Given the description of an element on the screen output the (x, y) to click on. 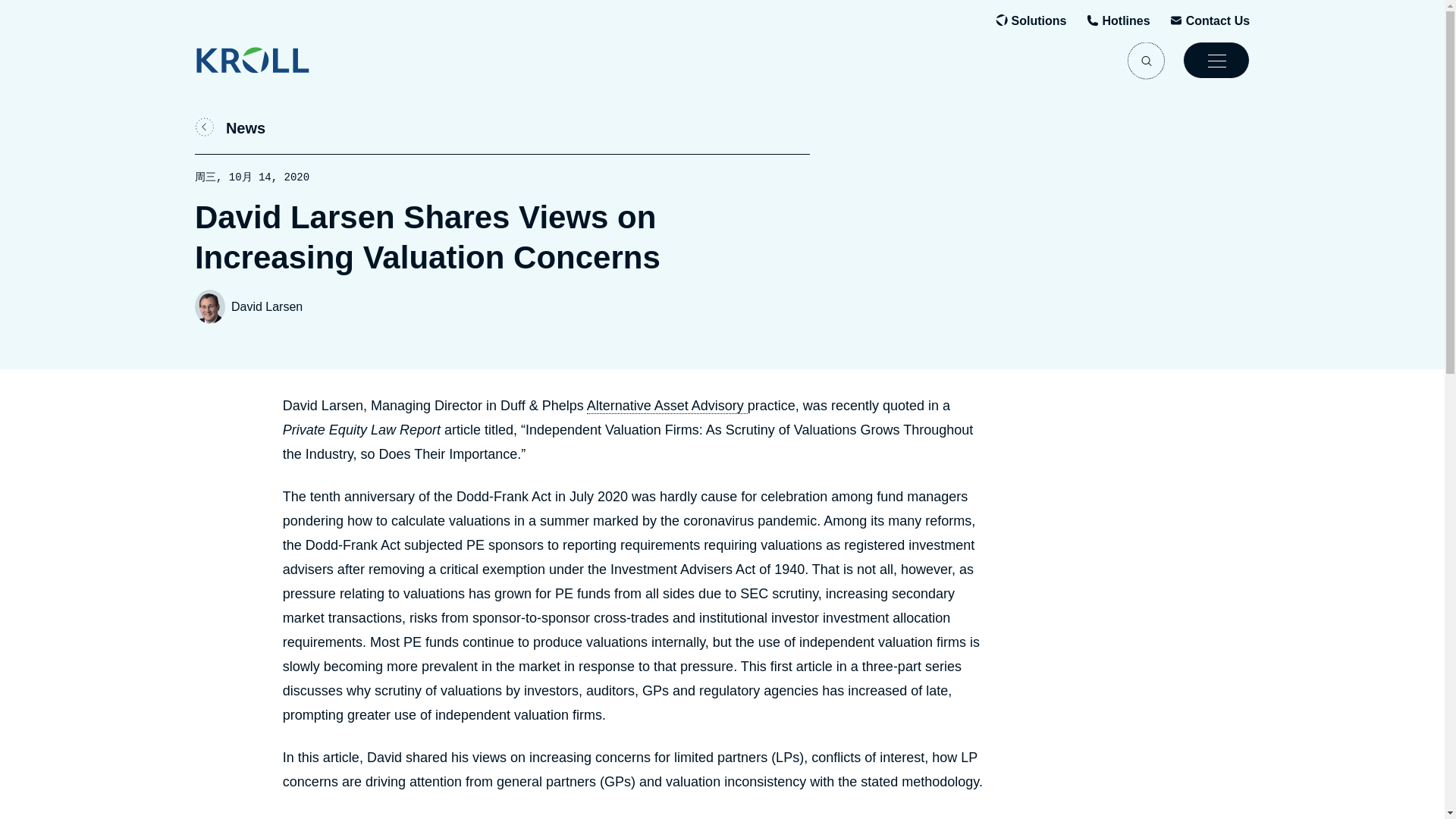
Contact Us (1217, 21)
Burger-Icon (1215, 59)
Hotlines (1126, 21)
dropdown (1215, 59)
Our Capabilities (1039, 21)
Send Message (1217, 21)
search (1145, 59)
Kroll-Logo (283, 59)
Search-Icon (1145, 59)
Phone (1126, 21)
